Given the description of an element on the screen output the (x, y) to click on. 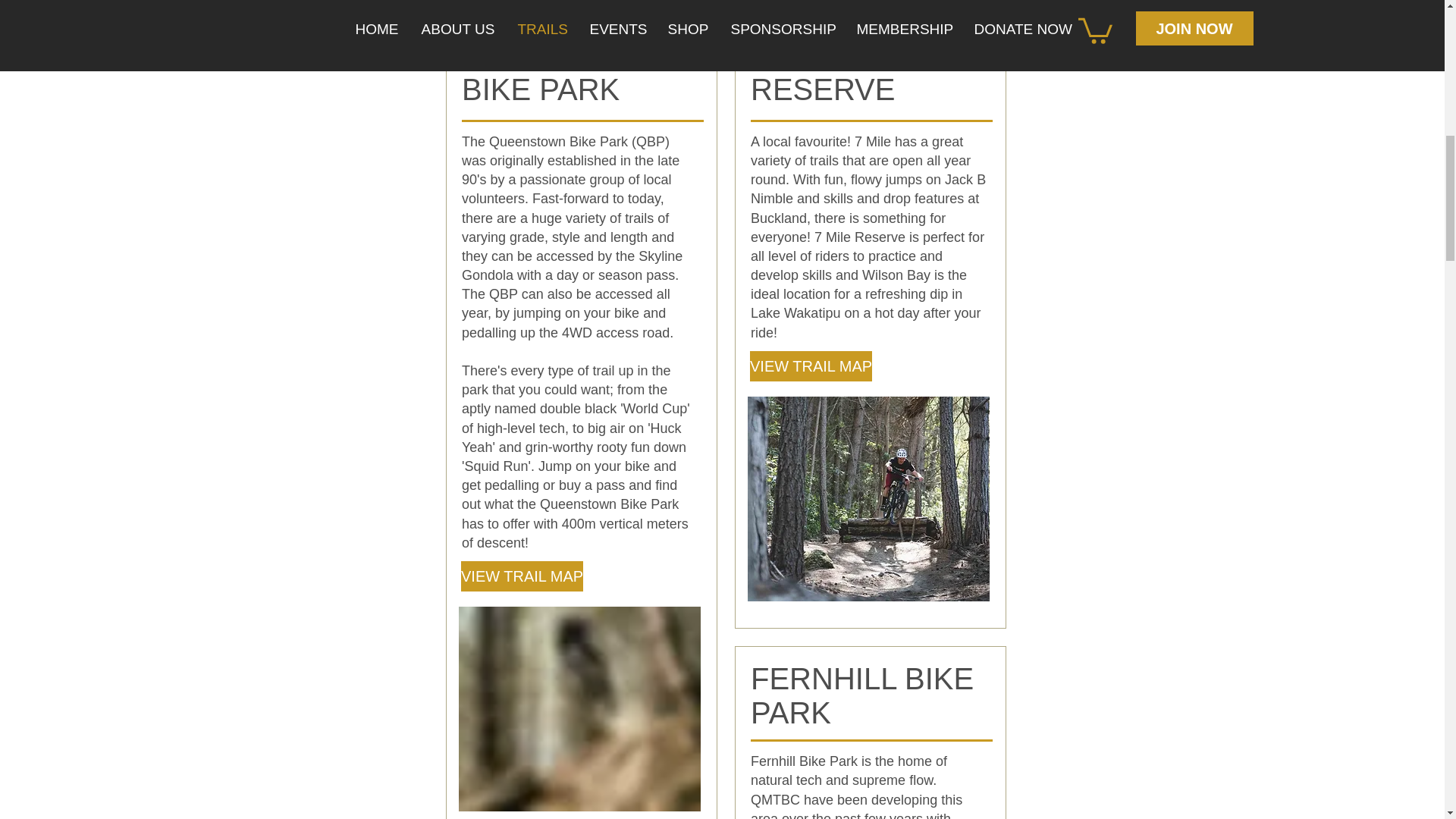
VIEW TRAIL MAP (810, 366)
VIEW TRAIL MAP (522, 576)
